Given the description of an element on the screen output the (x, y) to click on. 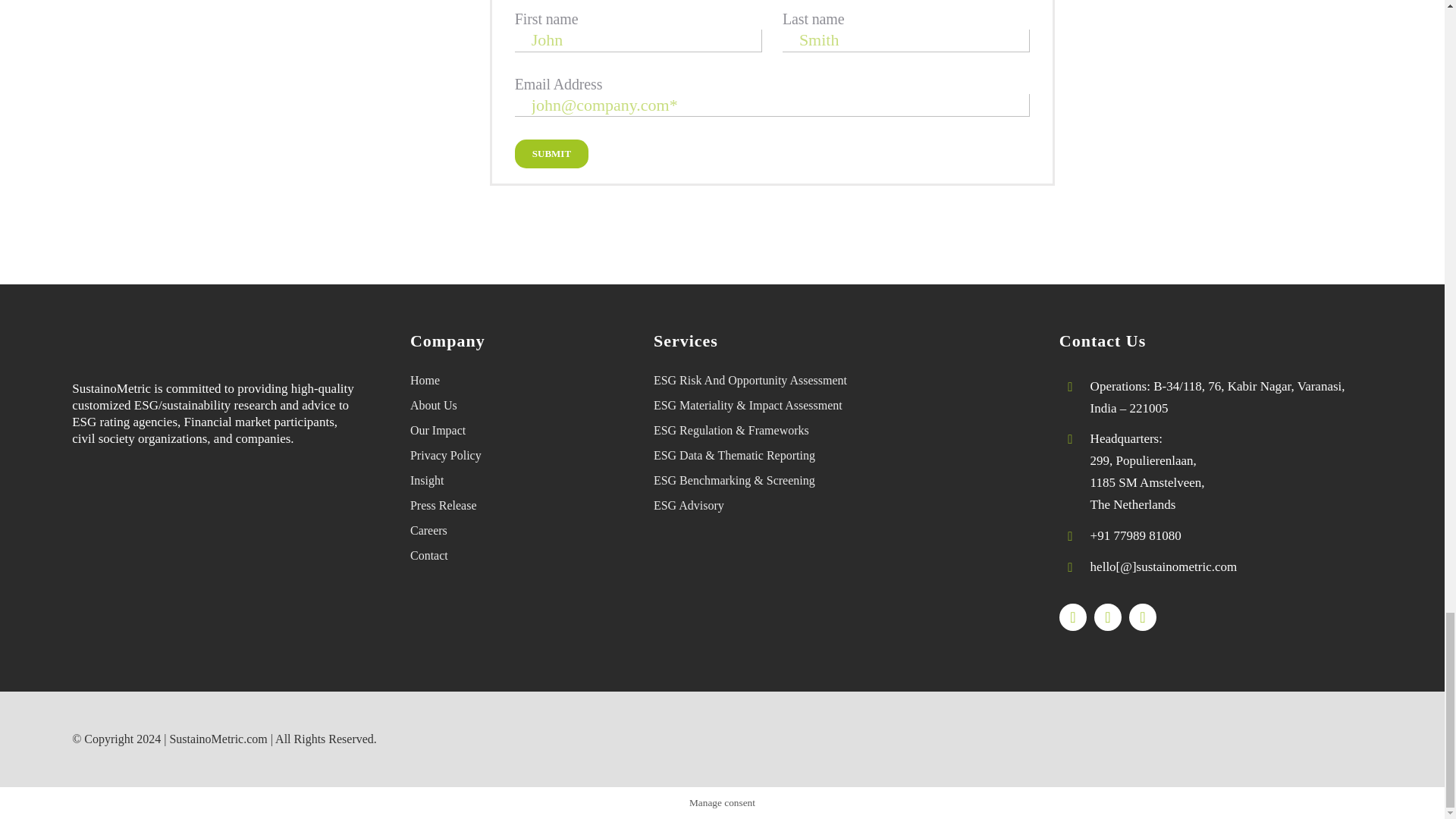
Facebook (1072, 616)
LinkedIn (1142, 616)
Instagram (1107, 616)
SUBMIT (551, 153)
